Given the description of an element on the screen output the (x, y) to click on. 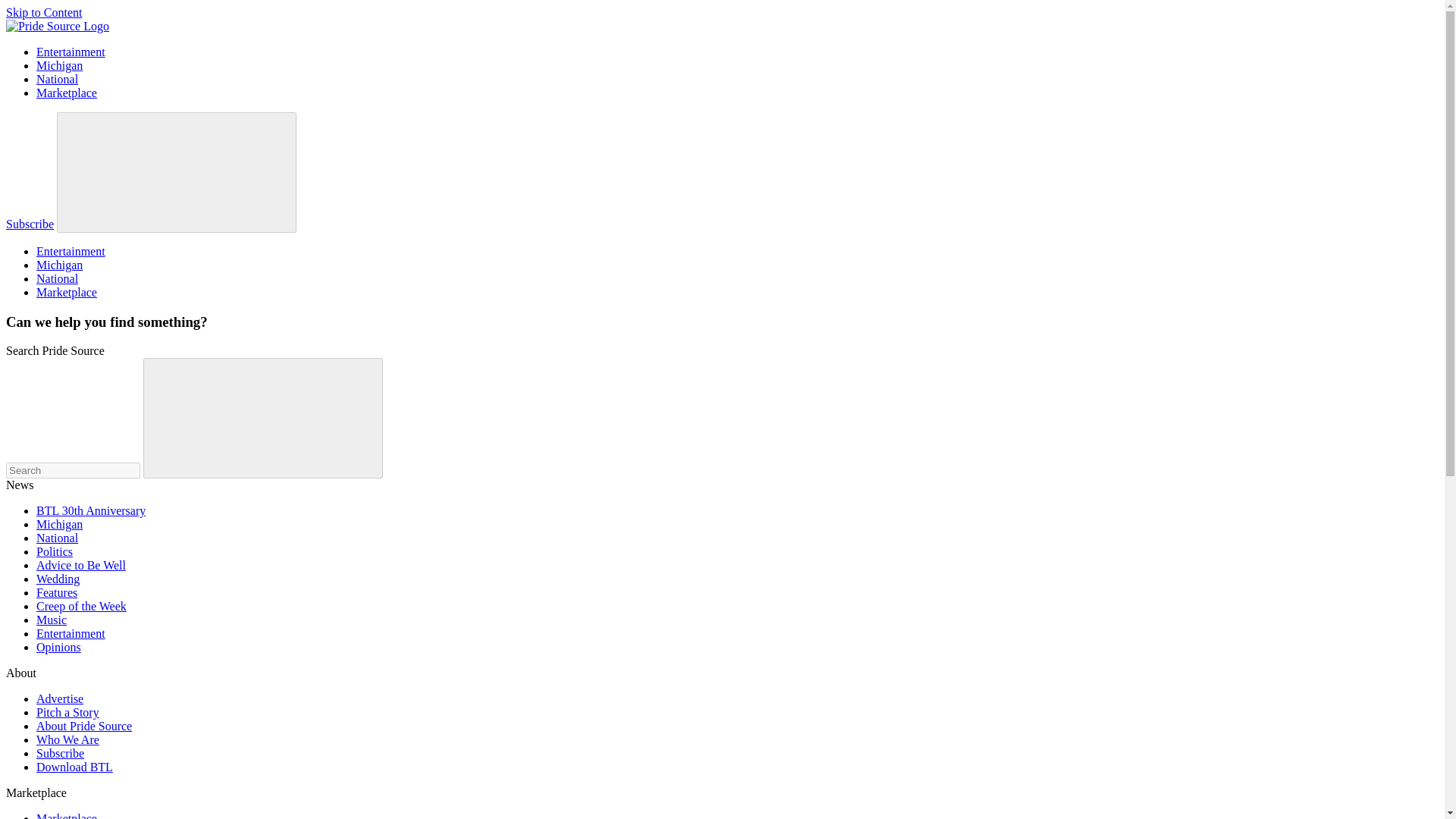
BTL 30th Anniversary (90, 510)
Marketplace (66, 291)
Michigan (59, 65)
Creep of the Week (81, 605)
Politics (54, 551)
Advertise (59, 698)
Marketplace (66, 92)
Opinions (58, 646)
About Pride Source (84, 725)
National (57, 278)
